Given the description of an element on the screen output the (x, y) to click on. 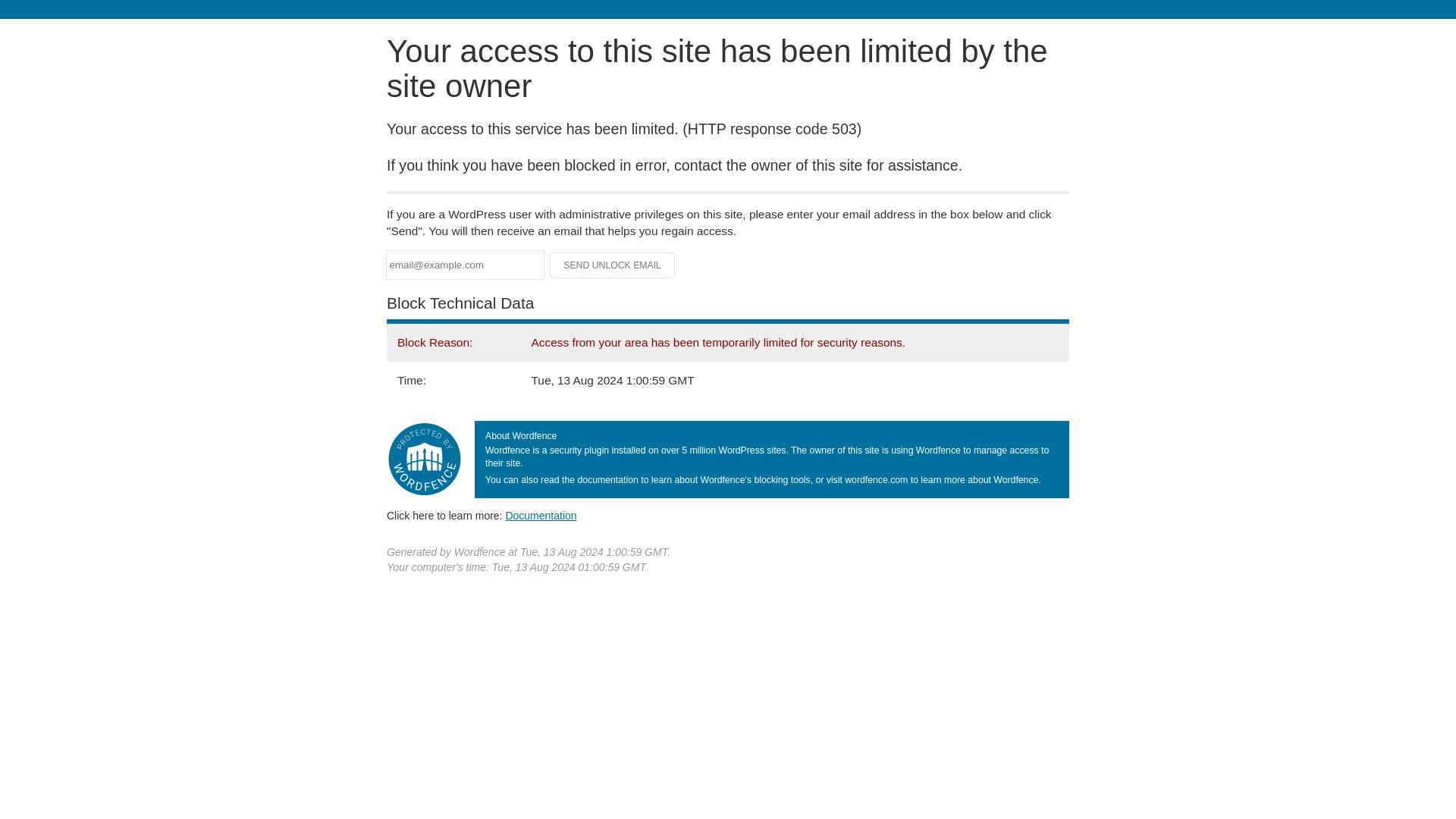
Documentation (540, 515)
Send Unlock Email (612, 265)
Send Unlock Email (612, 265)
